Given the description of an element on the screen output the (x, y) to click on. 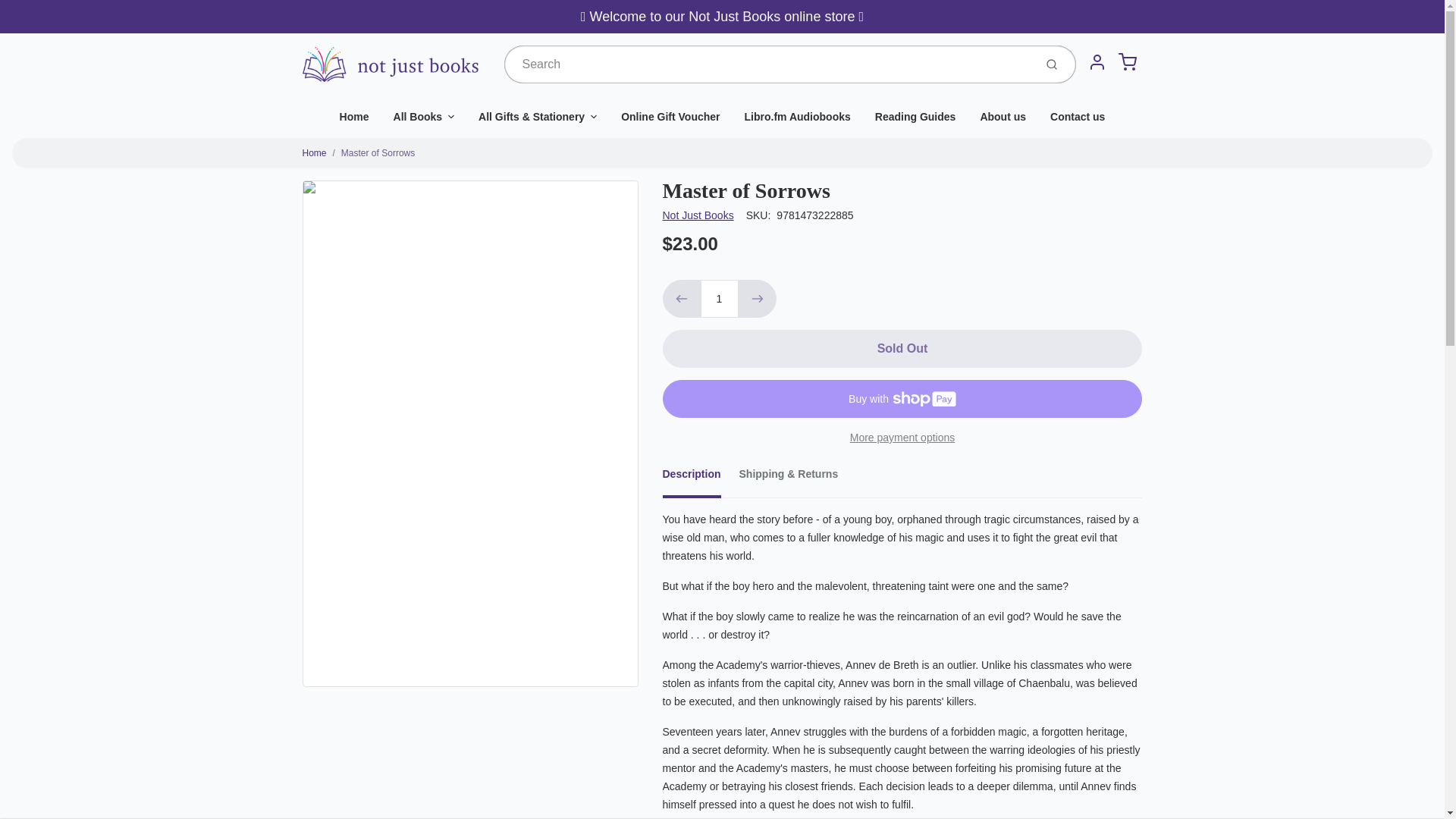
All Books (424, 116)
Home (354, 116)
Cart (1126, 61)
Not Just Books (697, 215)
Submit (1052, 64)
Account (1096, 61)
1 (719, 298)
